Given the description of an element on the screen output the (x, y) to click on. 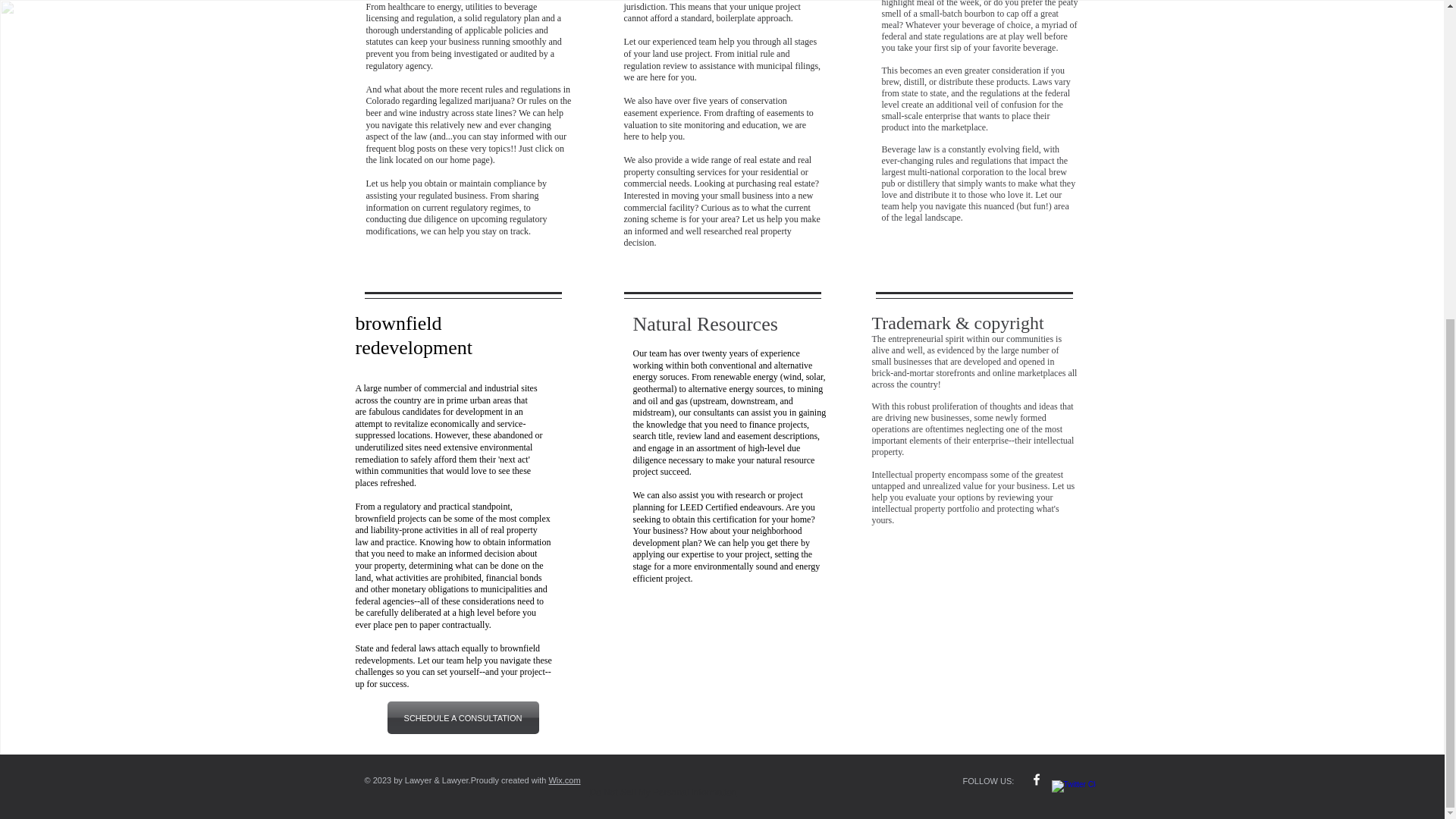
Wix.com (563, 779)
SCHEDULE A CONSULTATION (462, 717)
Do Not Sell My Personal Information (662, 793)
